Given the description of an element on the screen output the (x, y) to click on. 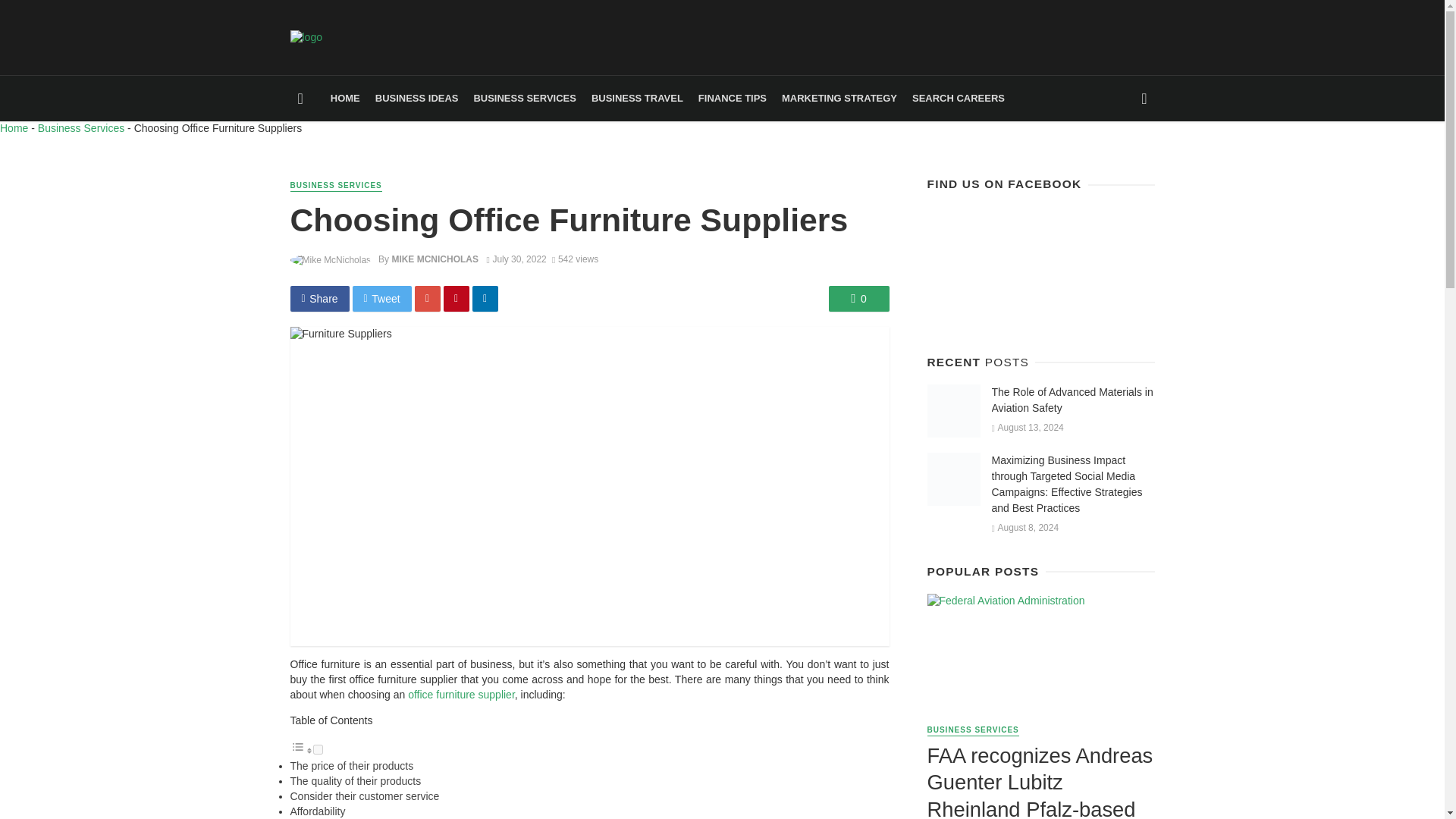
Share (319, 298)
Share on Twitter (382, 298)
SEARCH CAREERS (957, 98)
0 Comments (858, 298)
The quality of their products (354, 780)
Posts by Mike McNicholas (435, 258)
Consider their customer service (364, 796)
office furniture supplier (461, 694)
BUSINESS IDEAS (416, 98)
Share on Facebook (319, 298)
